Given the description of an element on the screen output the (x, y) to click on. 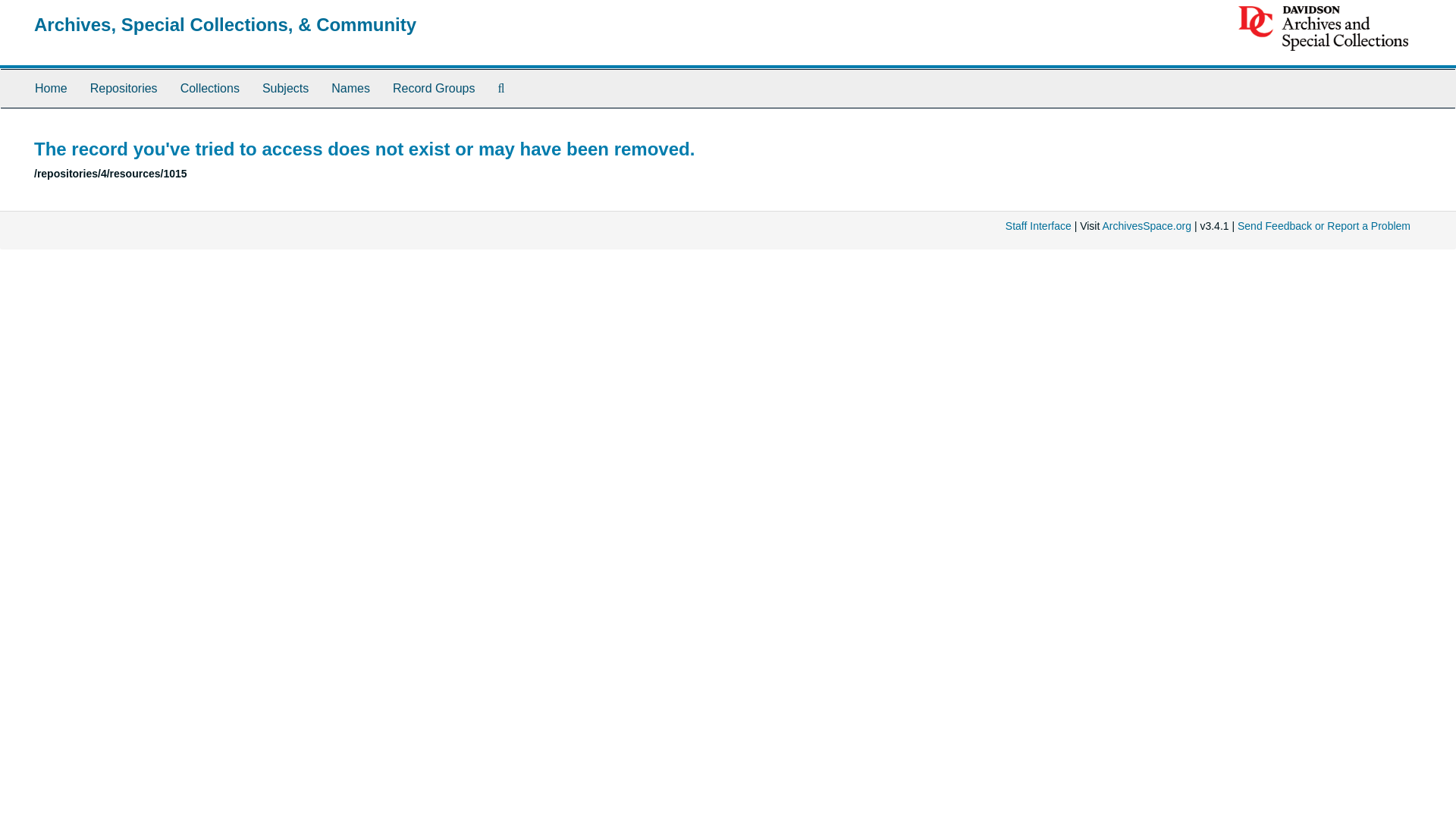
Subjects (285, 88)
ArchivesSpace.org (1146, 225)
Names (350, 88)
Staff Interface (1038, 225)
Send Feedback or Report a Problem (1323, 225)
Repositories (123, 88)
Record Groups (433, 88)
Home (50, 88)
Collections (209, 88)
translation missing: en.Home (50, 88)
Return to the ArchivesSpace homepage (224, 24)
